Given the description of an element on the screen output the (x, y) to click on. 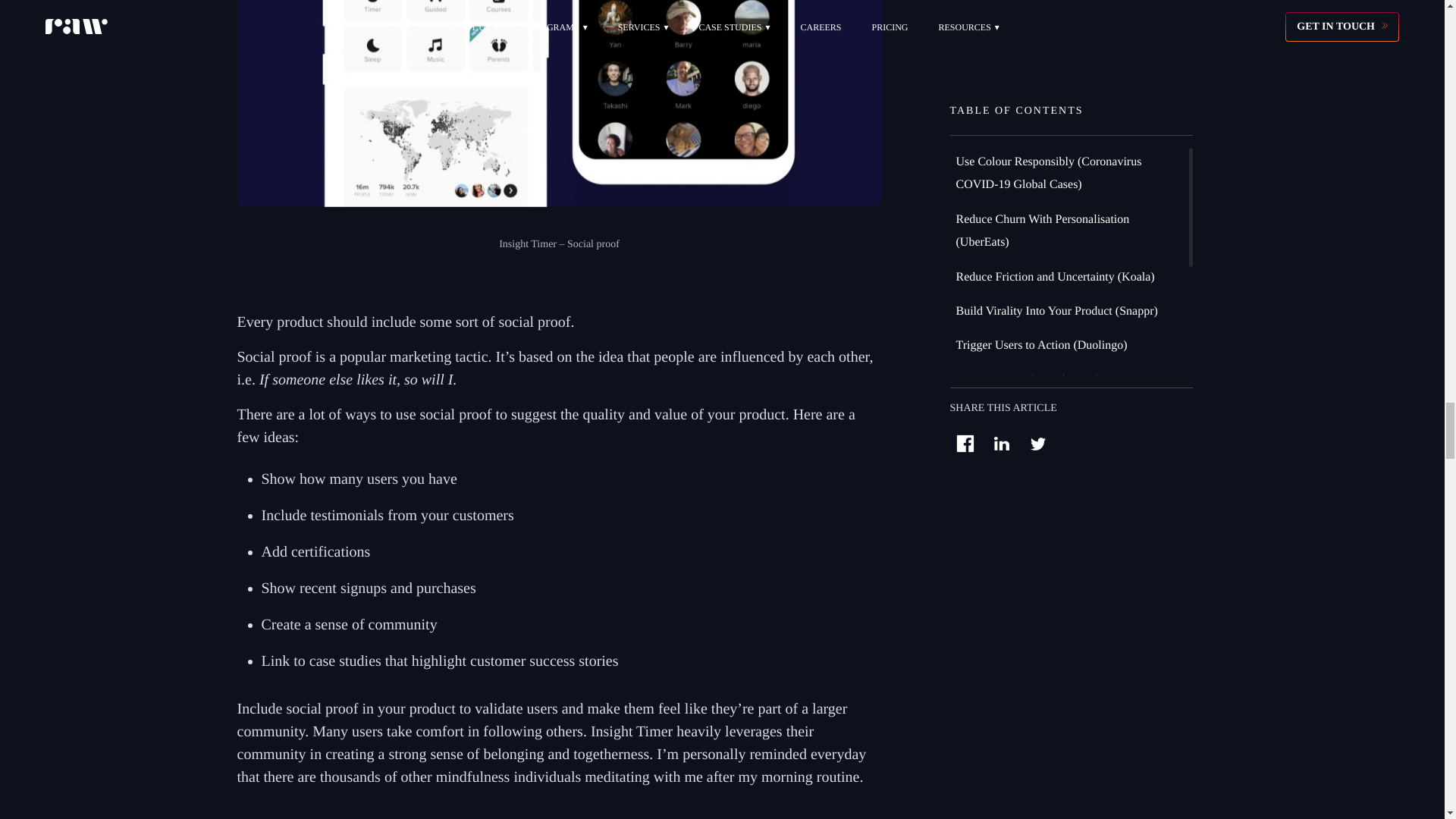
10 Design Commandments You Must Consider for Your Product (557, 103)
